Given the description of an element on the screen output the (x, y) to click on. 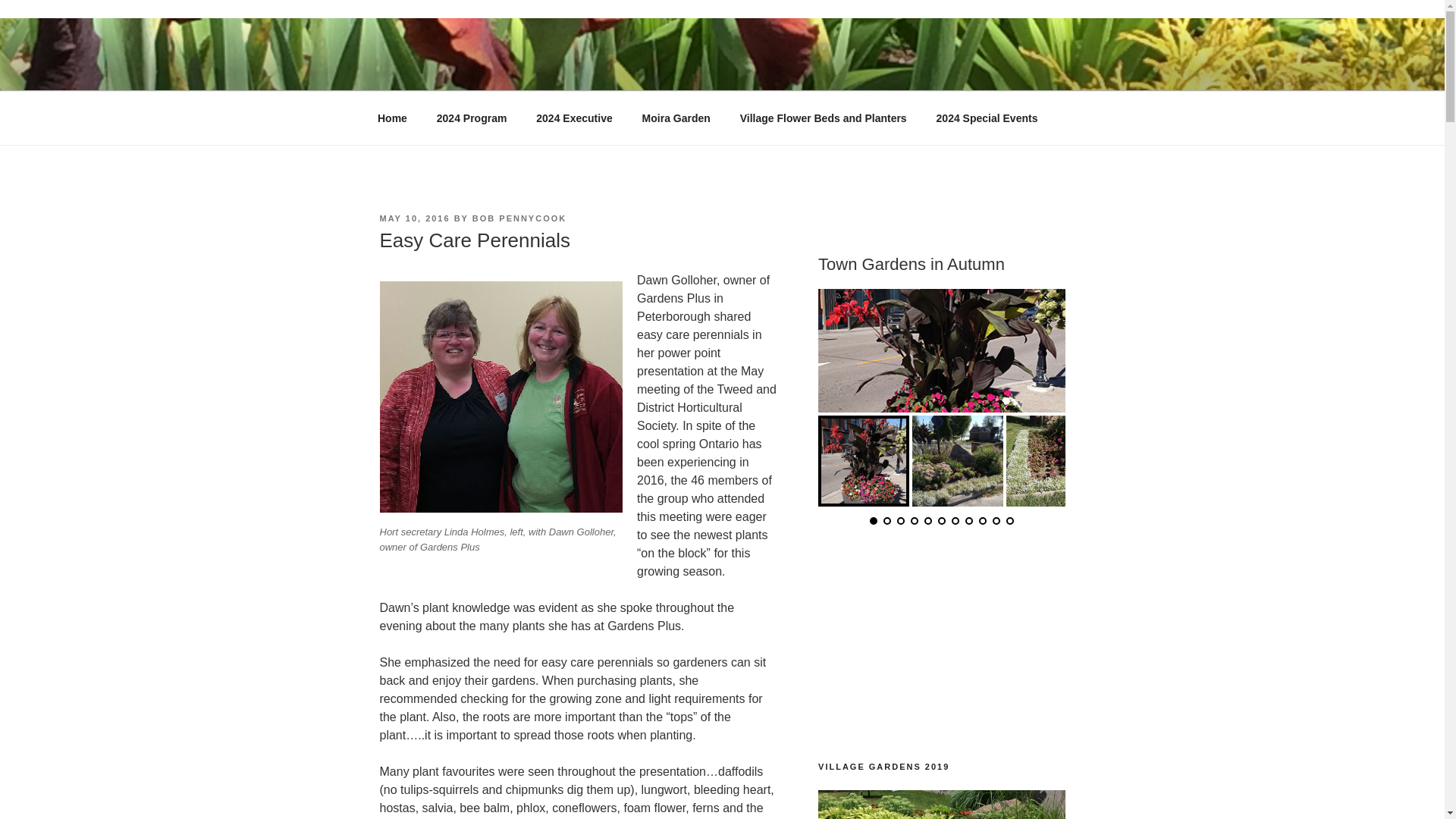
2024 Special Events (987, 118)
BOB PENNYCOOK (518, 217)
Home (392, 118)
Click here to see photos of the Tweed gardens. (941, 804)
TWEED HORTICULTURAL SOCIETY (640, 71)
MAY 10, 2016 (413, 217)
Moira Garden (675, 118)
Village Flower Beds and Planters (823, 118)
2024 Executive (574, 118)
2022 Year in Review (941, 649)
